Given the description of an element on the screen output the (x, y) to click on. 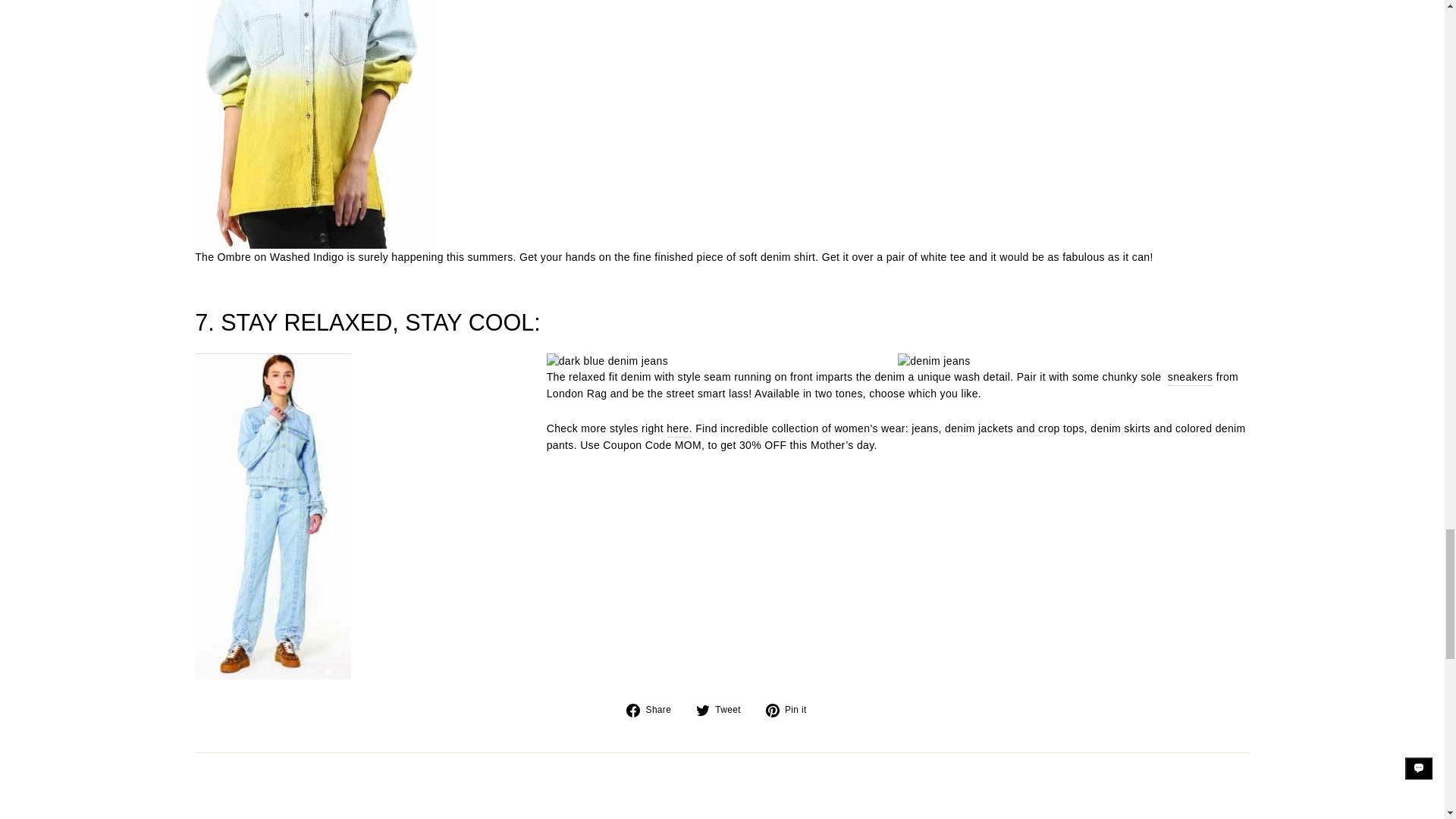
Share on Facebook (654, 709)
twitter (702, 710)
Pin on Pinterest (791, 709)
Tweet on Twitter (723, 709)
